Given the description of an element on the screen output the (x, y) to click on. 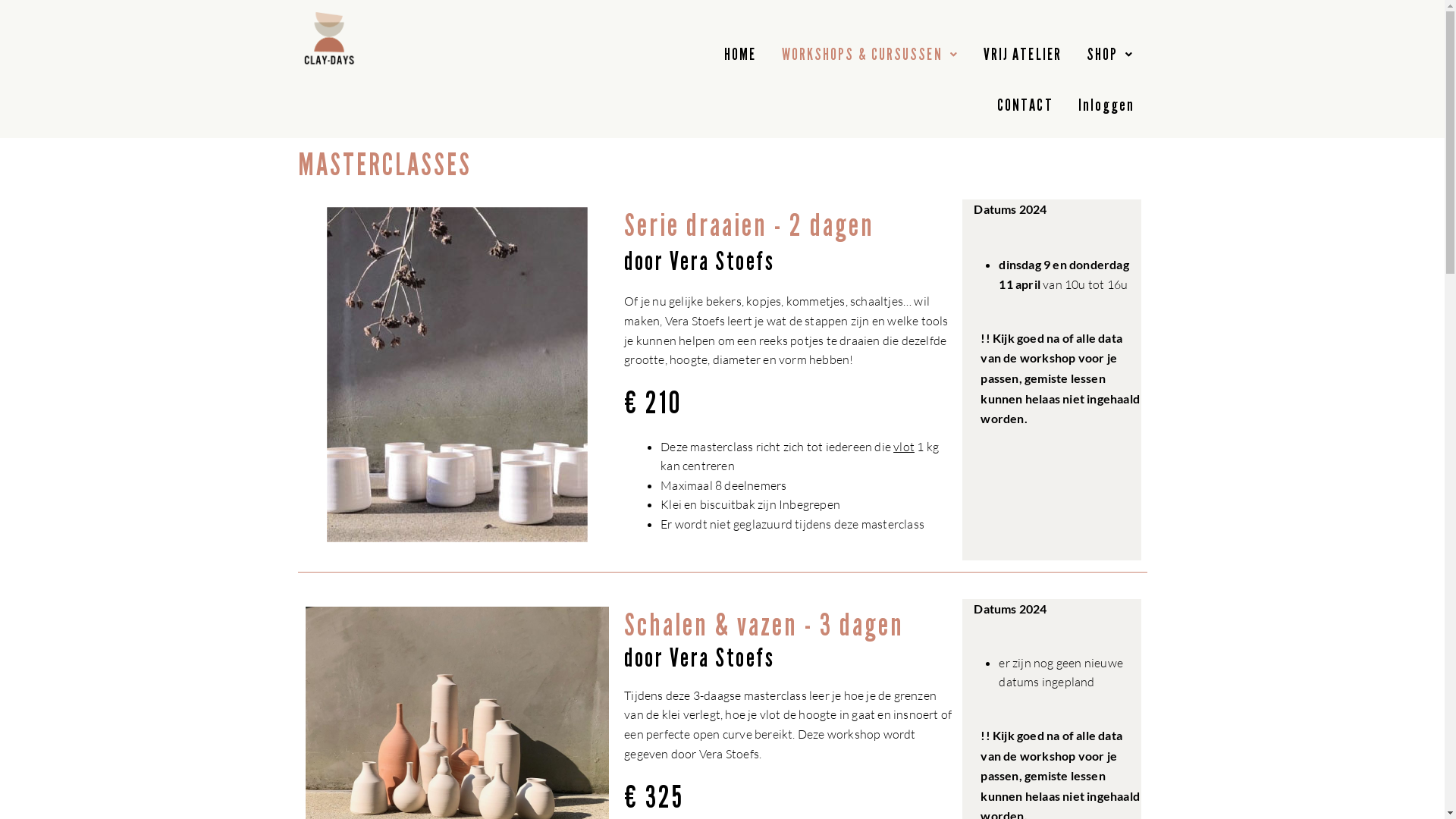
Inloggen Element type: text (1106, 105)
HOME Element type: text (740, 54)
VRIJ ATELIER Element type: text (1022, 54)
WORKSHOPS & CURSUSSEN Element type: text (869, 54)
CONTACT Element type: text (1025, 105)
SHOP Element type: text (1110, 54)
